Given the description of an element on the screen output the (x, y) to click on. 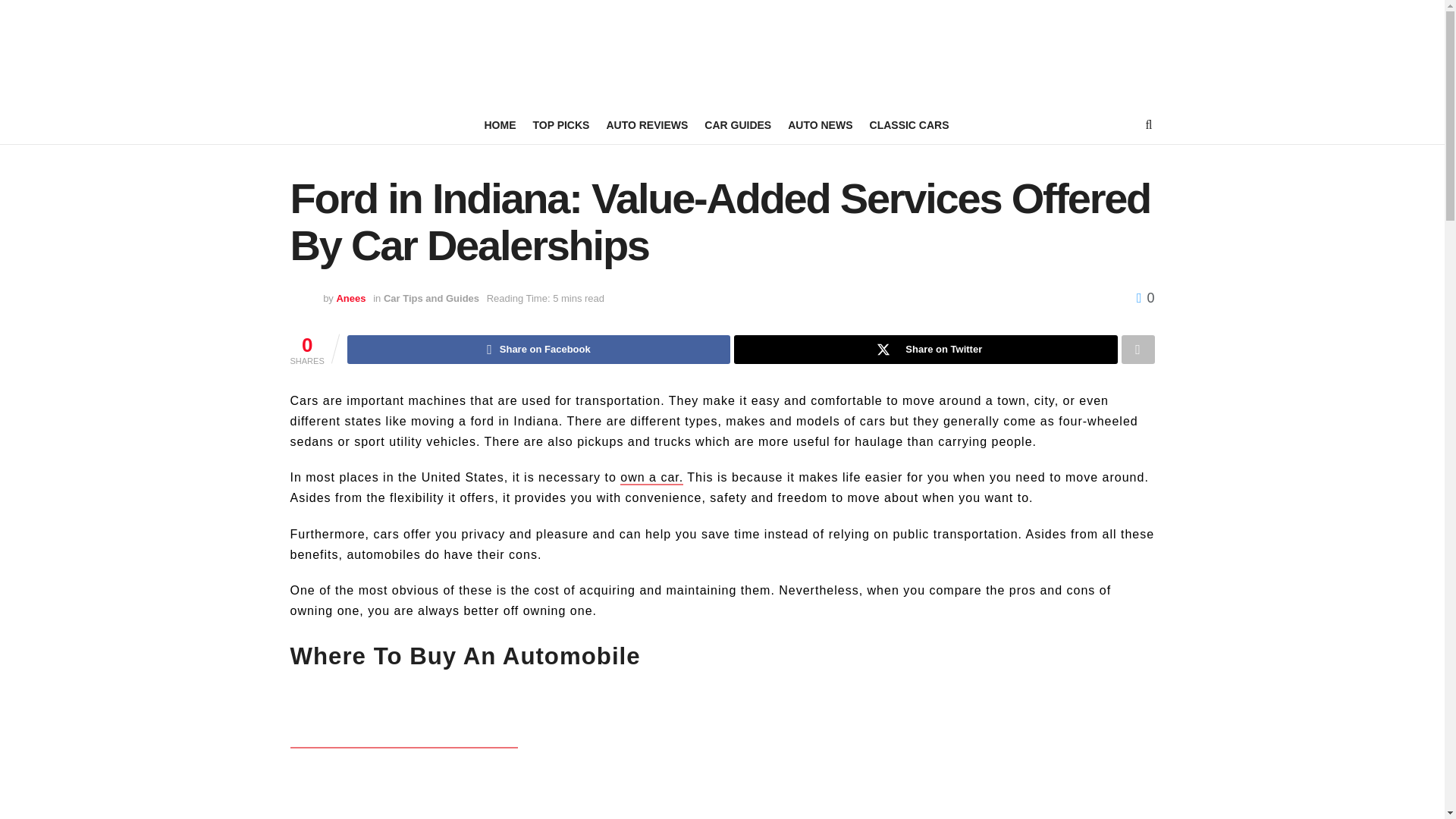
TOP PICKS (560, 125)
Anees (350, 297)
CLASSIC CARS (909, 125)
0 (1145, 297)
Share on Facebook (538, 348)
AUTO NEWS (819, 125)
AUTO REVIEWS (646, 125)
CAR GUIDES (737, 125)
Car Tips and Guides (431, 297)
own a car. (651, 477)
